Given the description of an element on the screen output the (x, y) to click on. 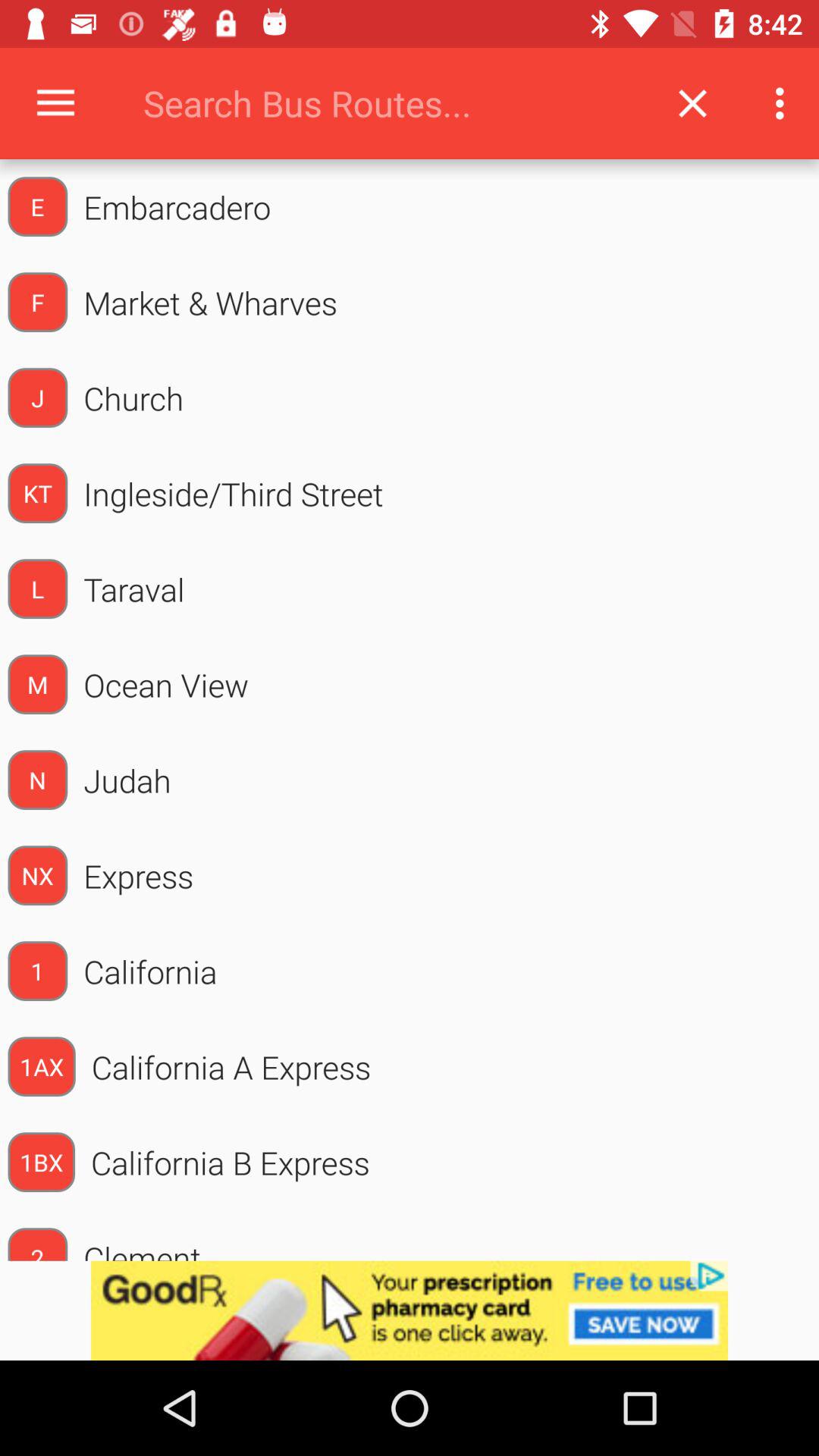
search for bus routes (389, 103)
